Given the description of an element on the screen output the (x, y) to click on. 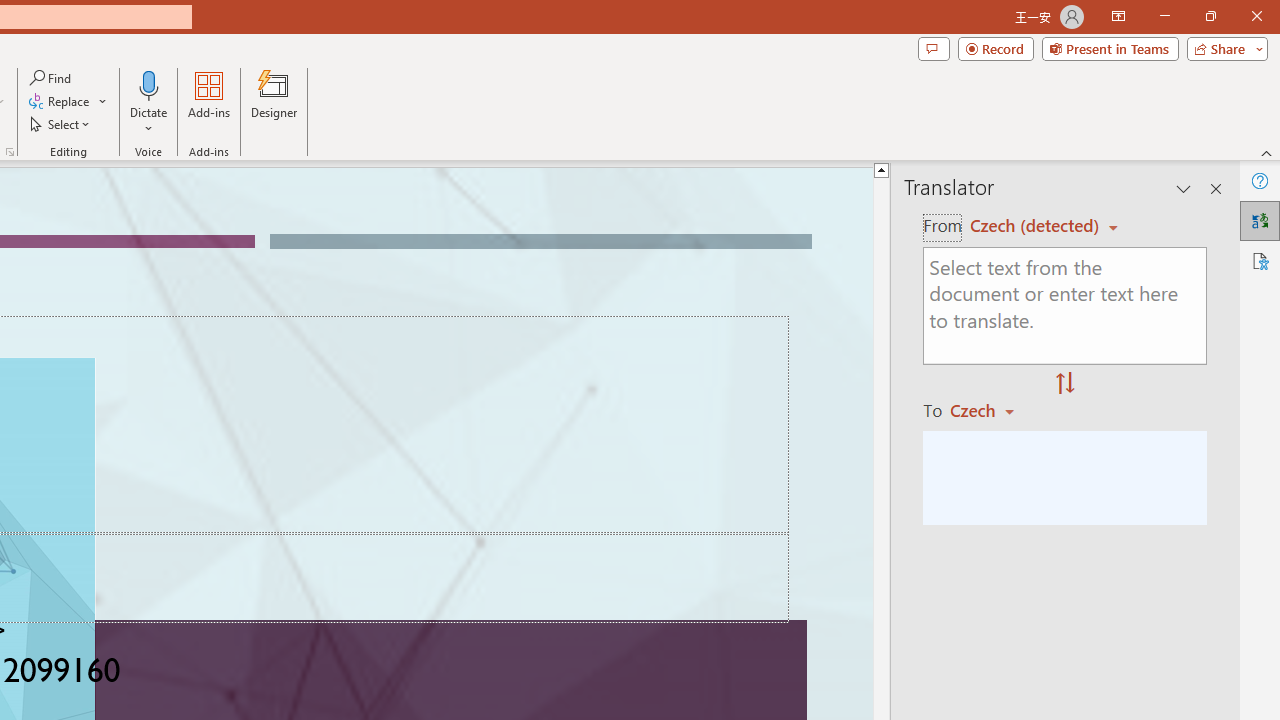
Czech (991, 409)
Swap "from" and "to" languages. (1065, 383)
Czech (detected) (1037, 225)
